Given the description of an element on the screen output the (x, y) to click on. 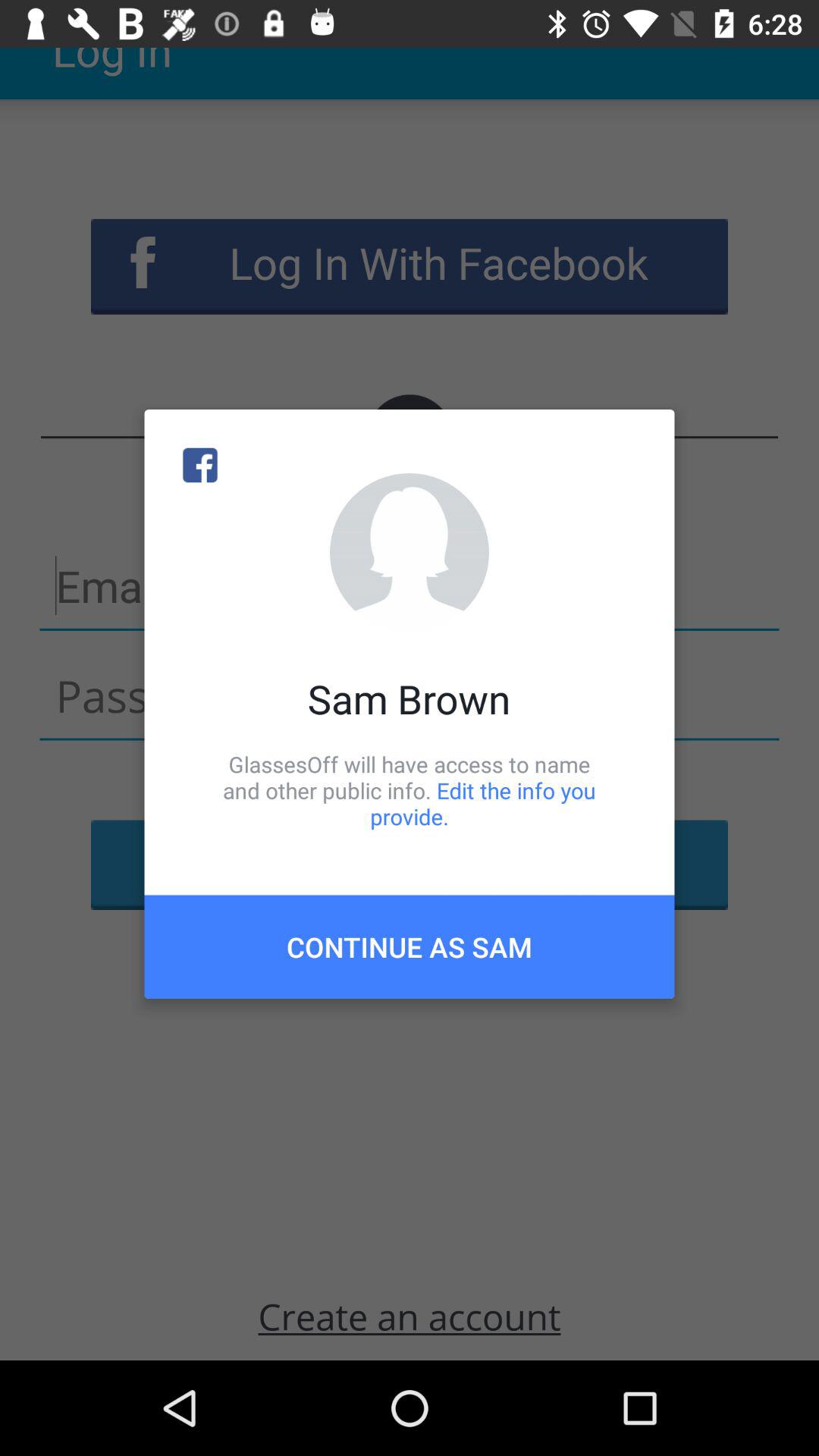
select the item below the sam brown (409, 790)
